Given the description of an element on the screen output the (x, y) to click on. 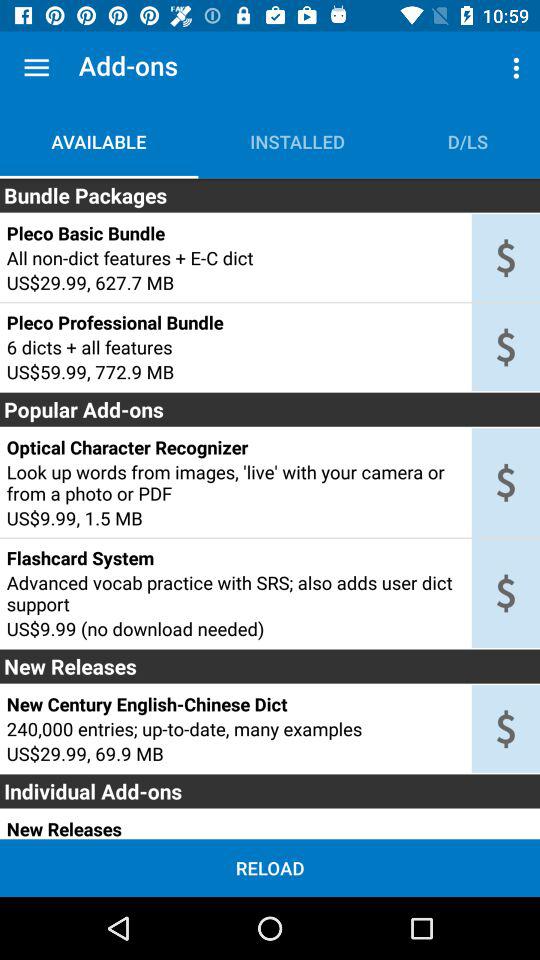
swipe to the bundle packages icon (269, 195)
